Given the description of an element on the screen output the (x, y) to click on. 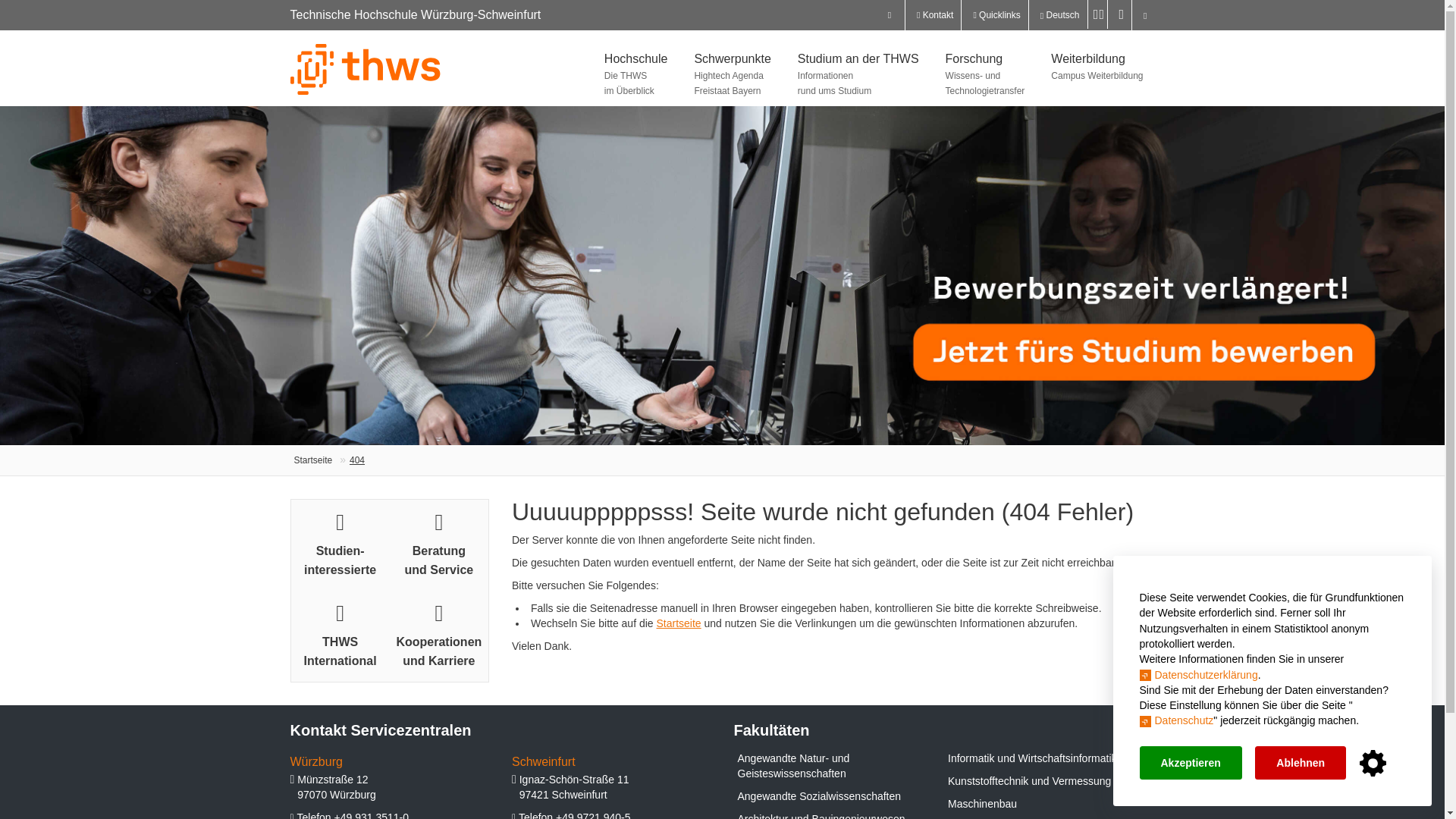
Datenschutz (1175, 720)
Alle Cookies akzeptieren (1189, 762)
Akzeptieren (1189, 762)
Technisch nicht notwendige Cookies ablehnen (1300, 762)
Ablehnen (1300, 762)
Zur Startseite wechseln (313, 460)
Sie befinden sich aktuell auf dieser Seite: 404 (357, 460)
Sie befinden sich aktuell auf dieser Seite (348, 460)
